Given the description of an element on the screen output the (x, y) to click on. 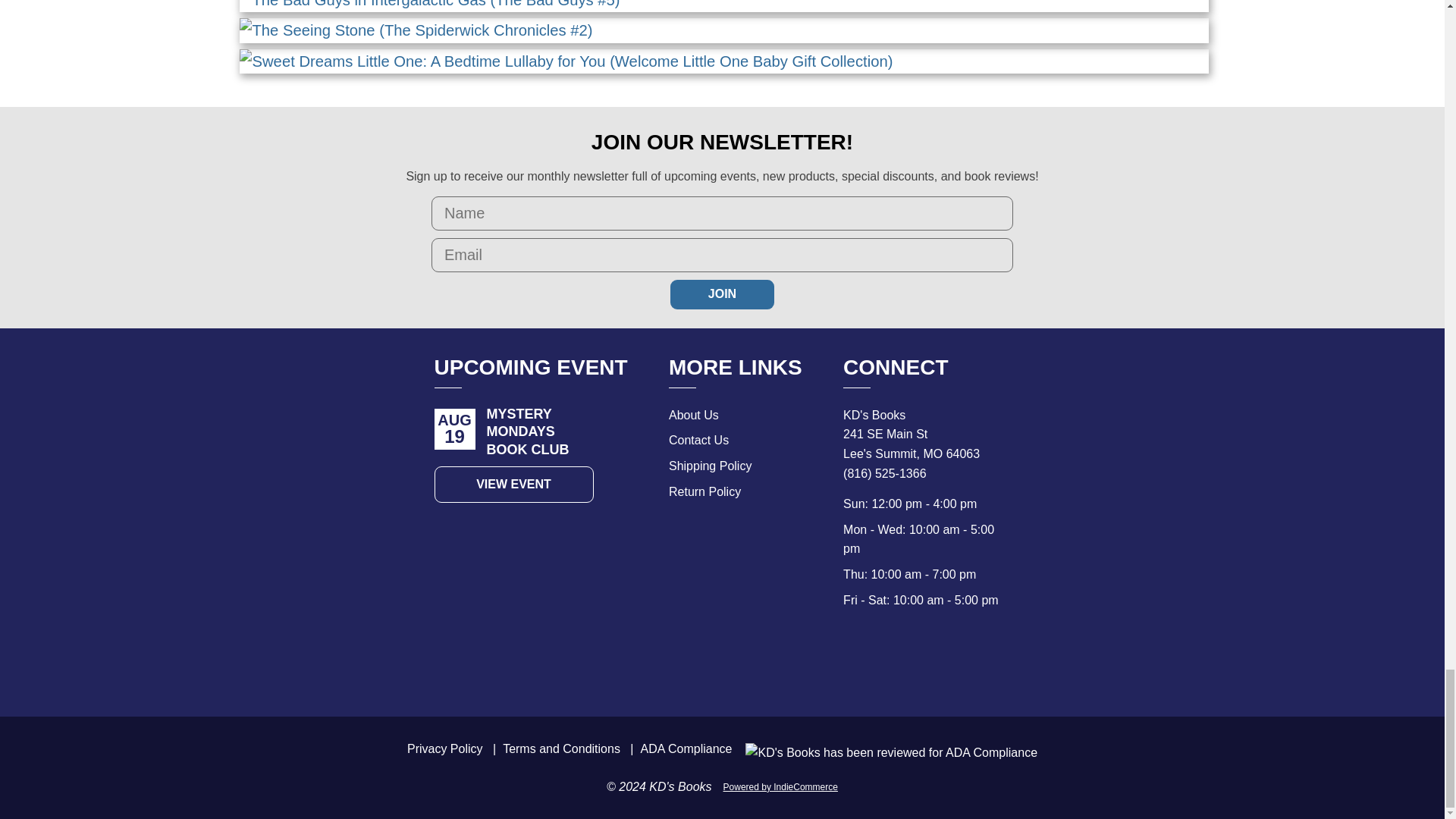
Connect with Instagram (926, 663)
Join (721, 294)
Connect with Facebook (892, 663)
Connect with Tik Tok (959, 663)
